Given the description of an element on the screen output the (x, y) to click on. 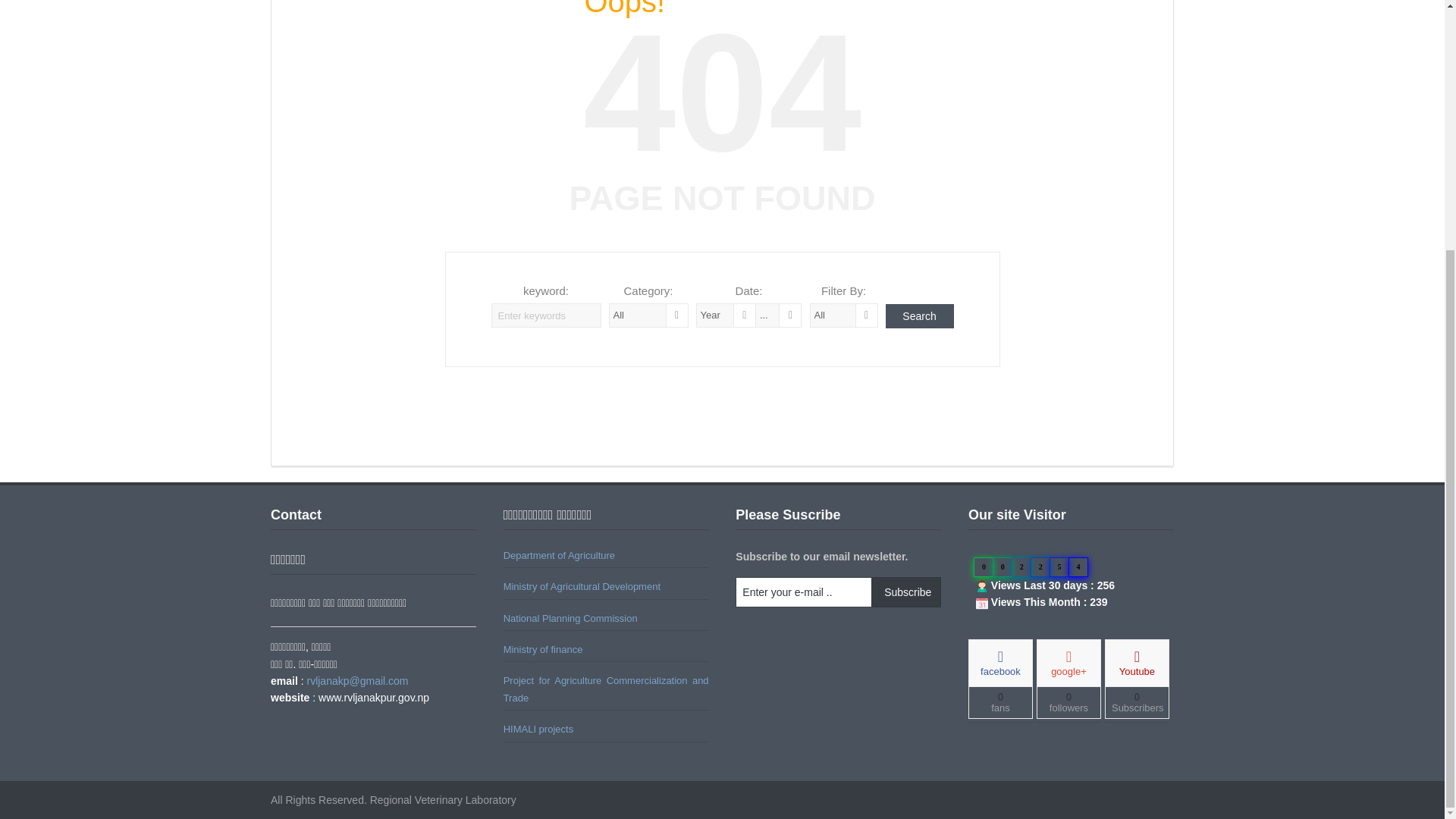
National Planning Commission (570, 618)
Department of Agriculture (558, 555)
facebook (1000, 663)
Project for Agriculture Commercialization and Trade (606, 688)
Ministry of Agricultural Development (582, 586)
HIMALI projects (538, 728)
Subscribe (905, 592)
Ministry of finance (543, 649)
Search (919, 315)
